Given the description of an element on the screen output the (x, y) to click on. 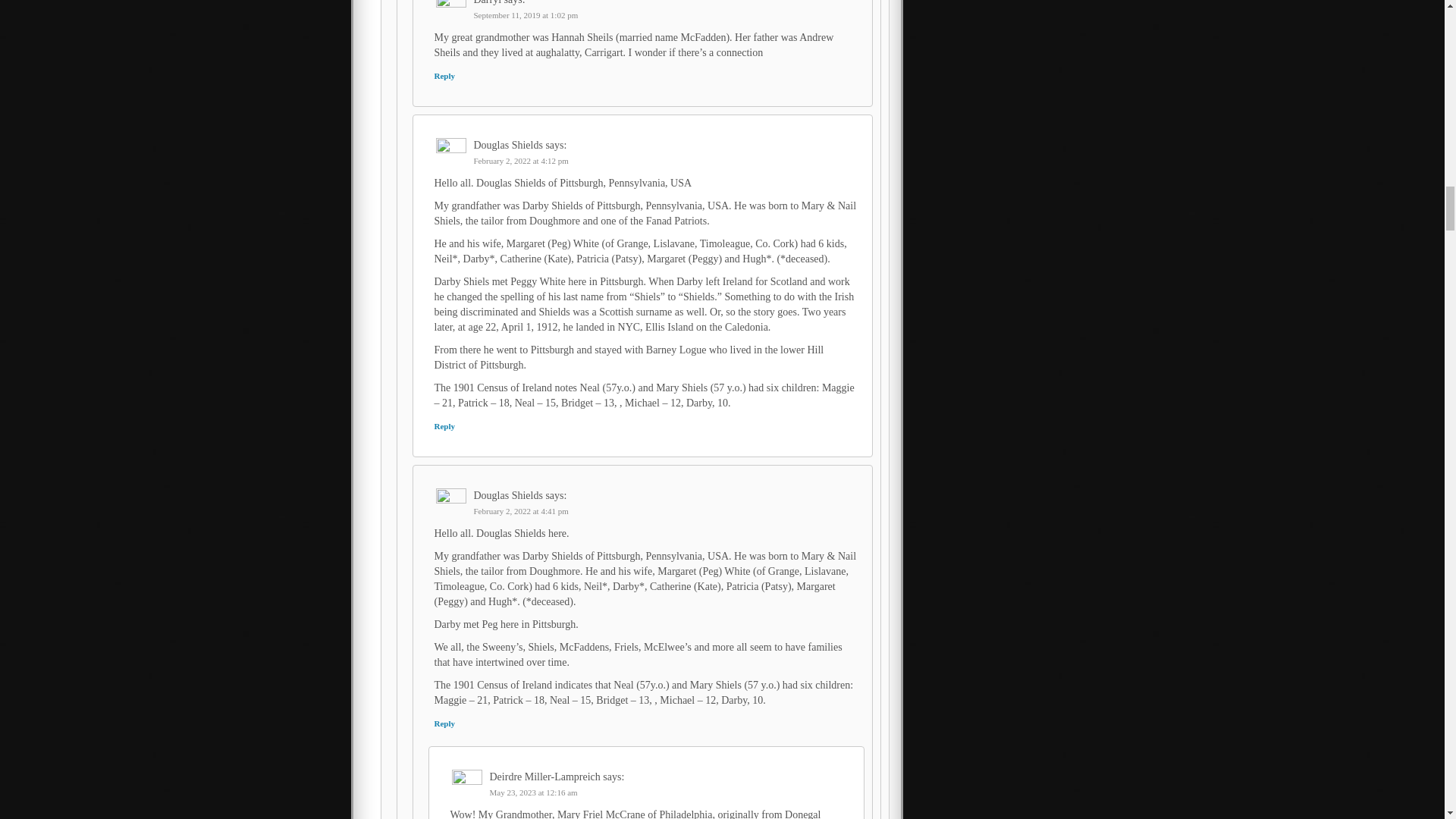
February 2, 2022 at 4:12 pm (520, 160)
February 2, 2022 at 4:41 pm (520, 510)
Reply (443, 75)
Reply (443, 425)
September 11, 2019 at 1:02 pm (525, 14)
